Given the description of an element on the screen output the (x, y) to click on. 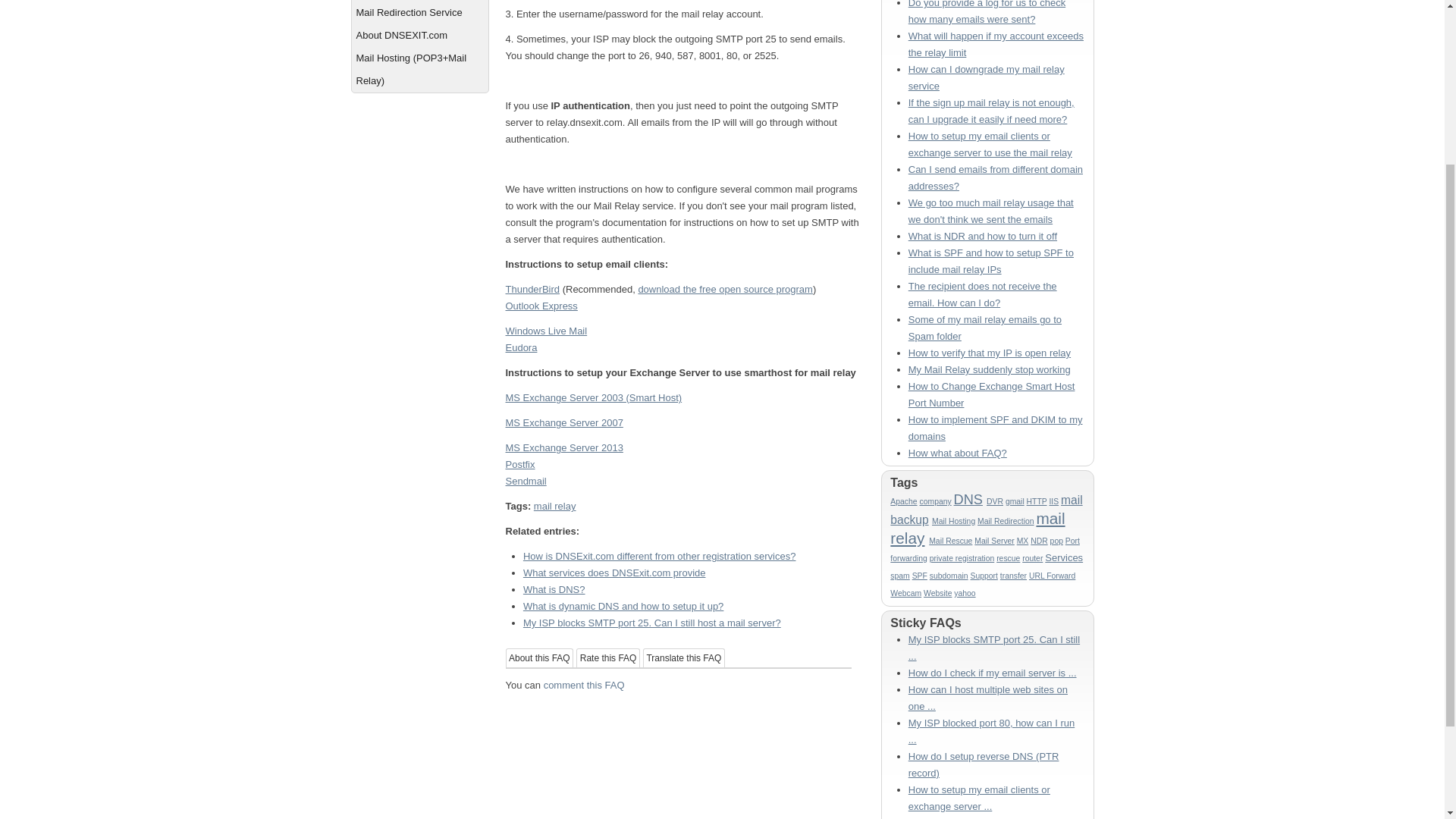
General question about services provided by DNS EXIT (419, 35)
Mail Backup Service (419, 0)
Window's live mail (545, 330)
Translate this FAQ (684, 658)
MS Exchange Server 2013 (564, 447)
About this FAQ (539, 658)
What is DNS? (553, 589)
Postfix (519, 464)
Outlook Express (540, 306)
About DNSEXIT.com (419, 35)
download the free open source program (724, 288)
What is DNS? (553, 589)
mail relay (555, 505)
Mail Redirection Service (419, 12)
